Given the description of an element on the screen output the (x, y) to click on. 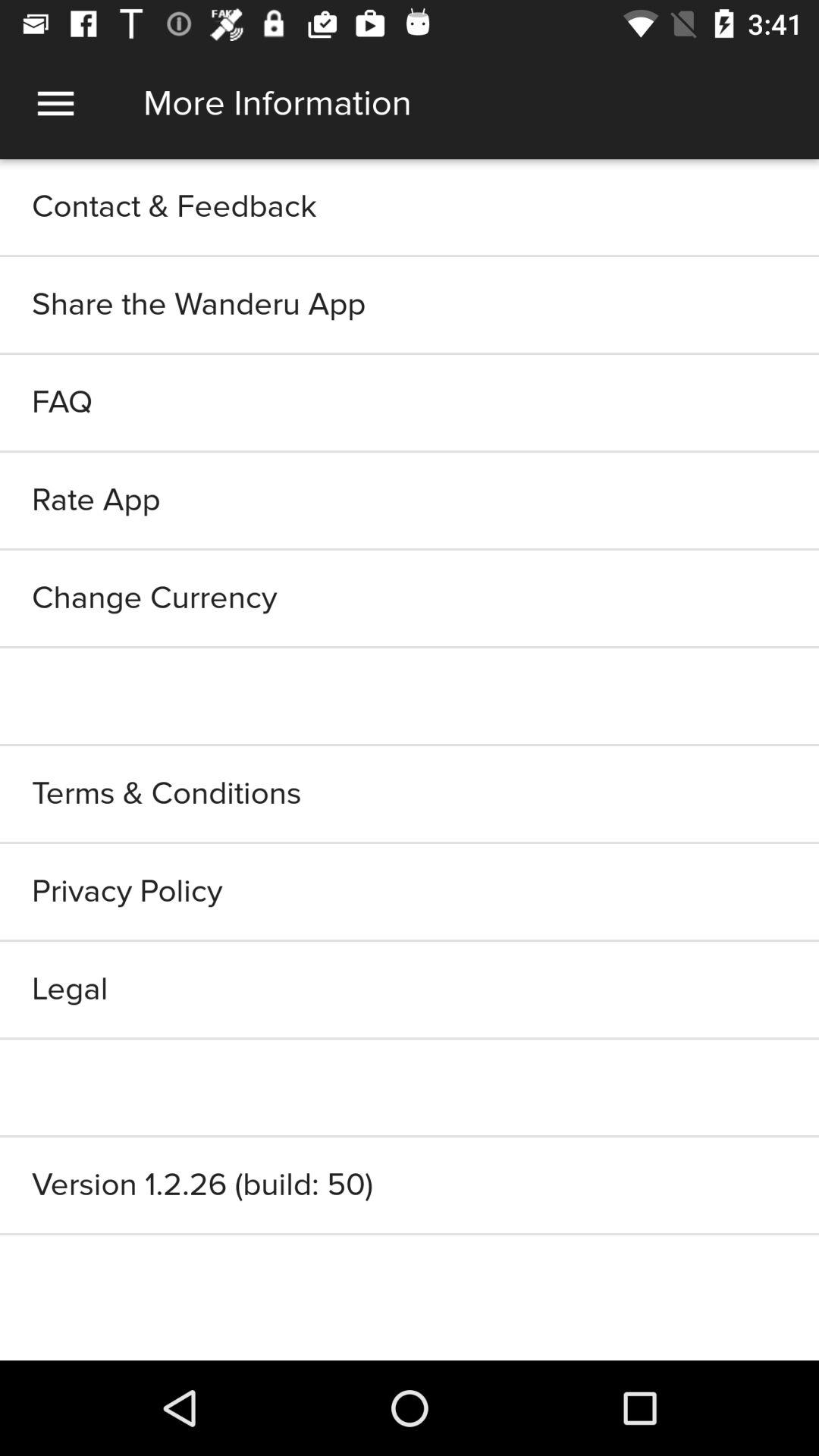
flip to contact & feedback (409, 206)
